Given the description of an element on the screen output the (x, y) to click on. 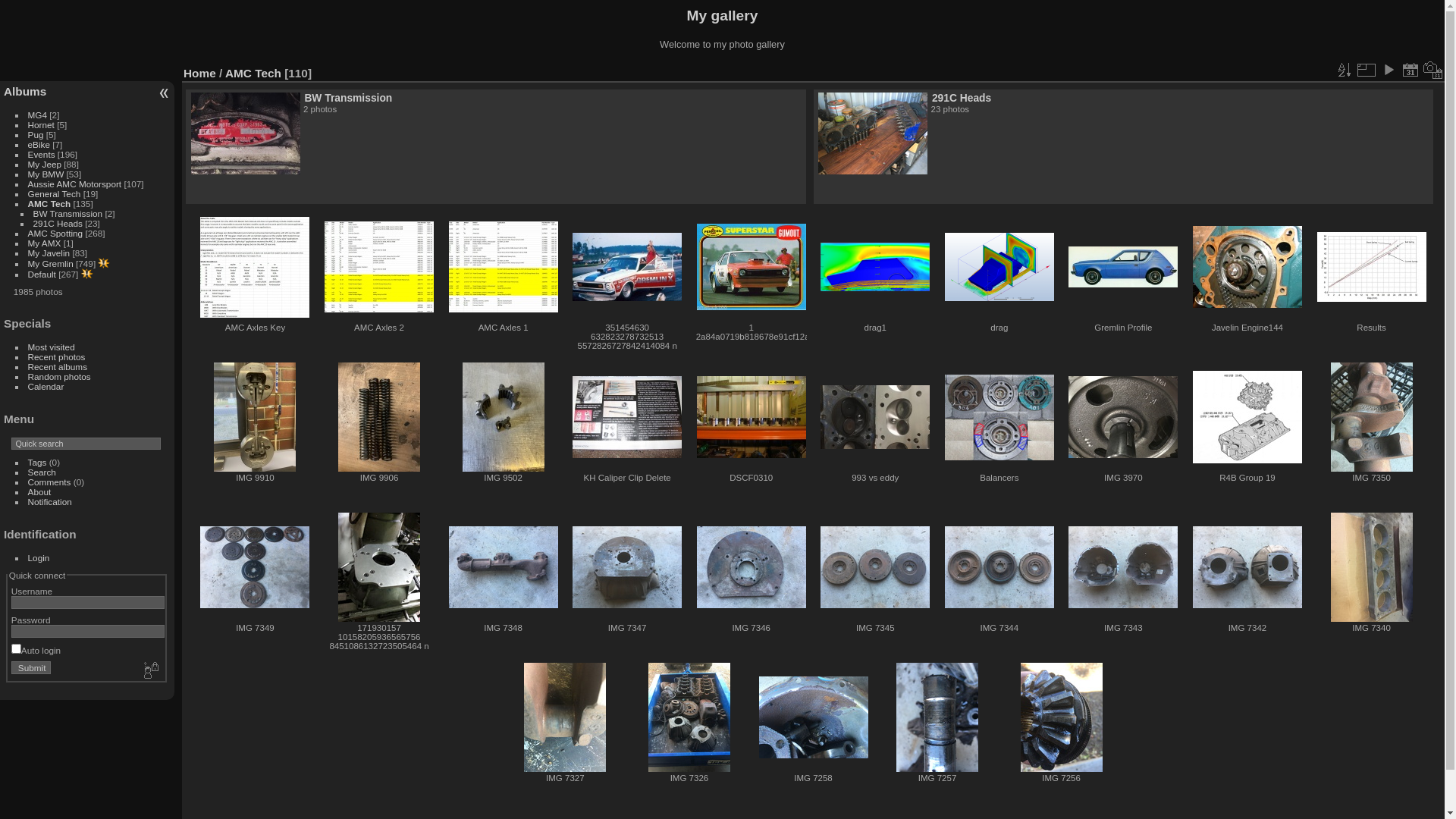
IMG 7349 (547 visits) Element type: hover (254, 567)
Home Element type: text (199, 72)
291C Heads - display this album Element type: hover (872, 133)
My Gremlin Element type: text (50, 263)
IMG 7350 (533 visits) Element type: hover (1371, 416)
Gremlin Profile (28 visits) Element type: hover (1122, 266)
IMG 7327 (573 visits) Element type: hover (564, 716)
Calendar Element type: text (46, 386)
eBike Element type: text (39, 144)
1 2a84a0719b818678e91cf12a59a156ac (19 visits) Element type: hover (751, 266)
Javelin Engine144 (29 visits) Element type: hover (1247, 266)
R4B Group 19 (478 visits) Element type: hover (1247, 416)
Forgot your password? Element type: hover (150, 670)
KH Caliper Clip Delete (67 visits) Element type: hover (626, 417)
Random photos Element type: text (59, 376)
291C Heads Element type: text (961, 97)
IMG 7343 (526 visits) Element type: hover (1122, 567)
Search Element type: text (42, 471)
My Javelin Element type: text (49, 252)
AMC Spotting Element type: text (55, 233)
Pug Element type: text (35, 134)
IMG 7348 (524 visits) Element type: hover (503, 567)
Most visited Element type: text (51, 346)
Hornet Element type: text (41, 124)
IMG 3970 (406 visits) Element type: hover (1122, 417)
Recent albums Element type: text (57, 366)
Recent photos Element type: text (56, 356)
351454630 632823278732513 5572826727842414084 n (18 visits) Element type: hover (626, 266)
IMG 7340 (535 visits) Element type: hover (1371, 566)
Events Element type: text (41, 154)
AMC Tech Element type: text (253, 72)
display a calendar by creation date Element type: hover (1433, 69)
IMG 9910 (48 visits) Element type: hover (254, 416)
Albums Element type: text (24, 90)
Results (51 visits) Element type: hover (1371, 266)
BW Transmission Element type: text (68, 213)
BW Transmission - display this album Element type: hover (245, 133)
My AMX Element type: text (44, 242)
drag (21 visits) Element type: hover (999, 266)
display a calendar by posted date Element type: hover (1410, 69)
IMG 7346 (521 visits) Element type: hover (751, 567)
photos posted during the last 7 days Element type: hover (103, 262)
993 vs eddy (61 visits) Element type: hover (874, 416)
My BMW Element type: text (46, 173)
Tags Element type: text (37, 462)
IMG 7256 (511 visits) Element type: hover (1061, 716)
AMC Axles 2 (16 visits) Element type: hover (378, 266)
291C Heads Element type: text (57, 223)
IMG 7345 (522 visits) Element type: hover (874, 567)
IMG 9906 (43 visits) Element type: hover (379, 416)
slideshow Element type: hover (1388, 69)
Login Element type: text (39, 557)
Default Element type: text (42, 274)
Notification Element type: text (50, 501)
Balancers (89 visits) Element type: hover (999, 417)
IMG 7258 (528 visits) Element type: hover (812, 717)
AMC Tech Element type: text (49, 203)
photos posted during the last 7 days Element type: hover (87, 273)
IMG 7326 (533 visits) Element type: hover (689, 716)
IMG 7342 (526 visits) Element type: hover (1247, 567)
IMG 7257 (557 visits) Element type: hover (937, 716)
IMG 9502 (60 visits) Element type: hover (503, 416)
DSCF0310 (59 visits) Element type: hover (751, 417)
MG4 Element type: text (37, 114)
AMC Axles Key (18 visits) Element type: hover (254, 266)
Sort order Element type: hover (1343, 69)
Submit Element type: text (31, 667)
General Tech Element type: text (54, 193)
AMC Axles 1 (13 visits) Element type: hover (503, 266)
My Jeep Element type: text (44, 164)
Photo sizes Element type: hover (1365, 69)
Comments Element type: text (49, 481)
Aussie AMC Motorsport Element type: text (75, 183)
drag1 (23 visits) Element type: hover (874, 266)
BW Transmission Element type: text (348, 97)
IMG 7347 (540 visits) Element type: hover (626, 567)
IMG 7344 (530 visits) Element type: hover (999, 567)
About Element type: text (39, 491)
